Given the description of an element on the screen output the (x, y) to click on. 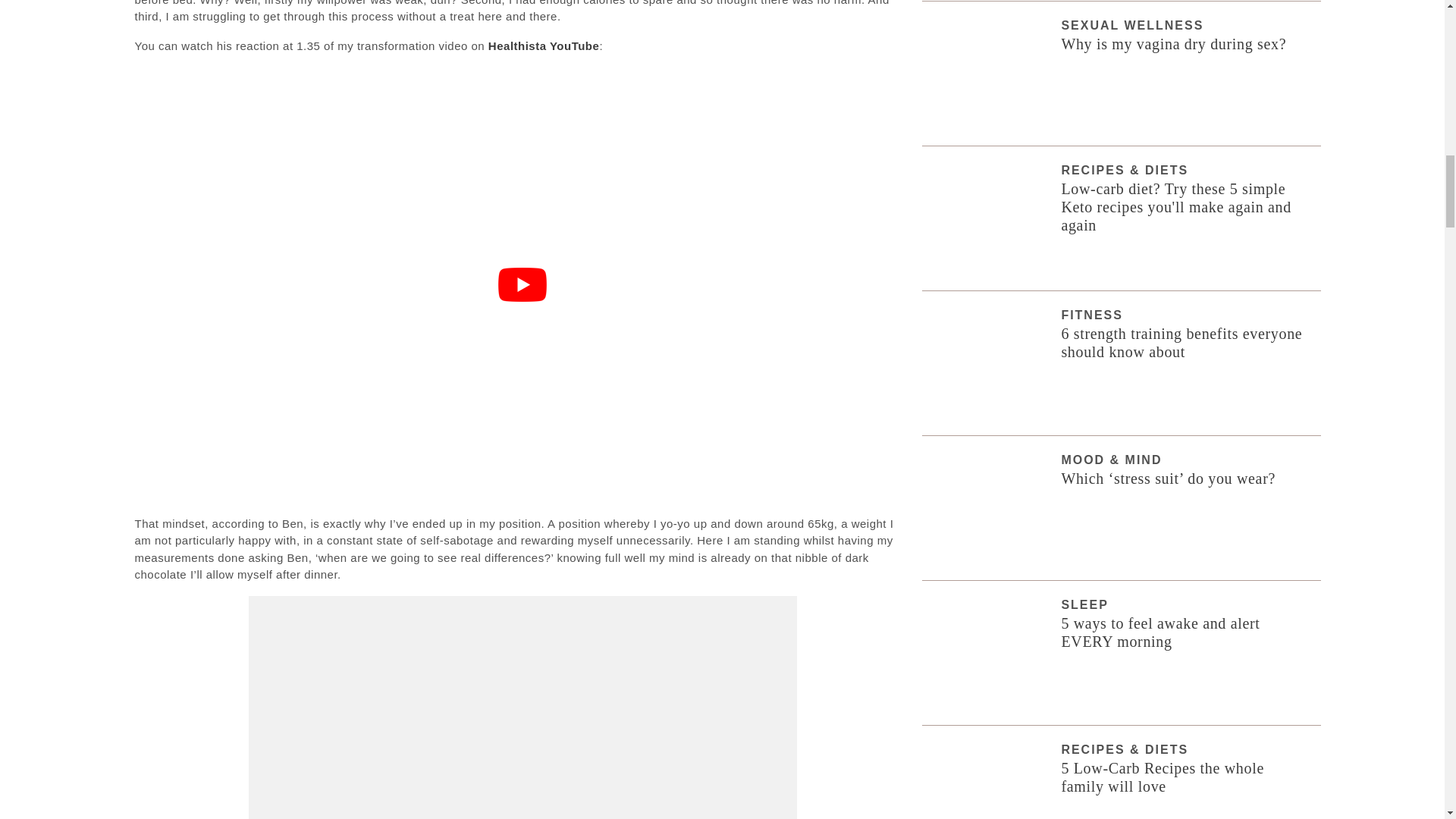
Healthista YouTube (543, 45)
